Given the description of an element on the screen output the (x, y) to click on. 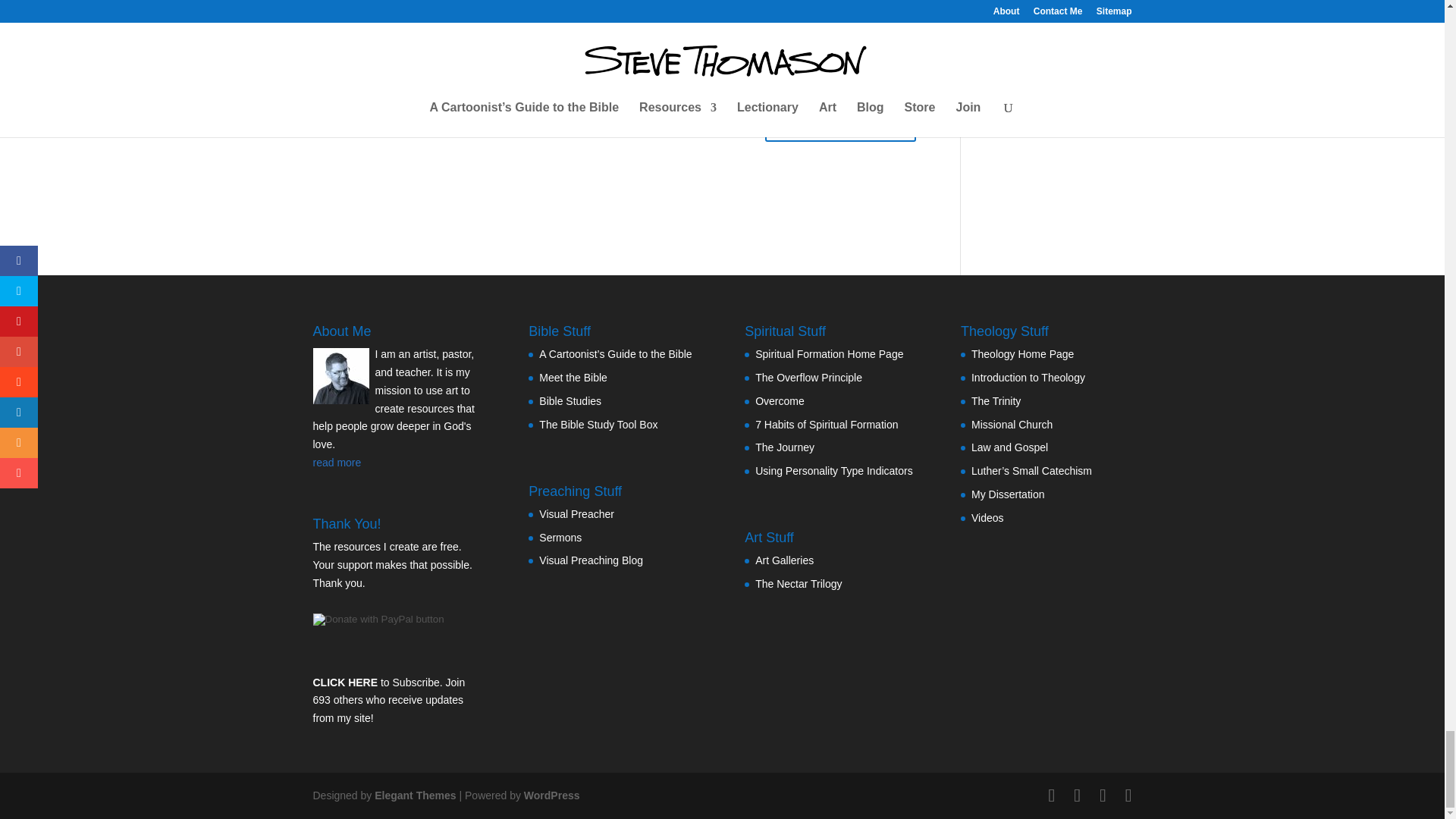
subscribe (319, 64)
subscribe (319, 13)
Submit Comment (840, 122)
